Given the description of an element on the screen output the (x, y) to click on. 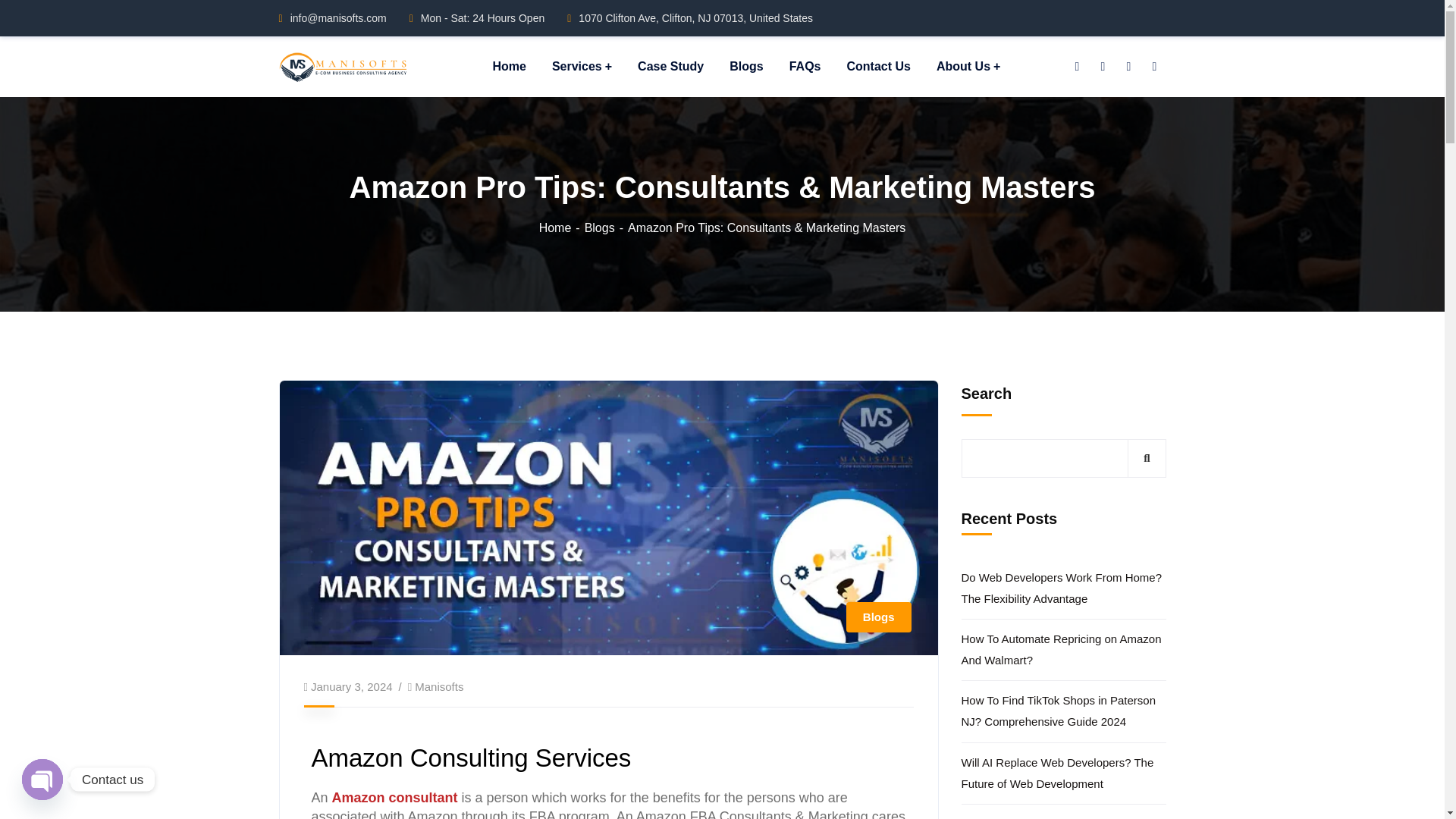
Posts by Manisofts (438, 686)
Services (581, 66)
Contact Us (877, 66)
Blogs (878, 616)
Manisofts Provides (343, 65)
Case Study (670, 66)
About Us (968, 66)
Manisofts (438, 686)
1070 Clifton Ave, Clifton, NJ 07013, United States (689, 18)
Home (561, 227)
Blogs (606, 227)
Amazon consultant (394, 797)
